Given the description of an element on the screen output the (x, y) to click on. 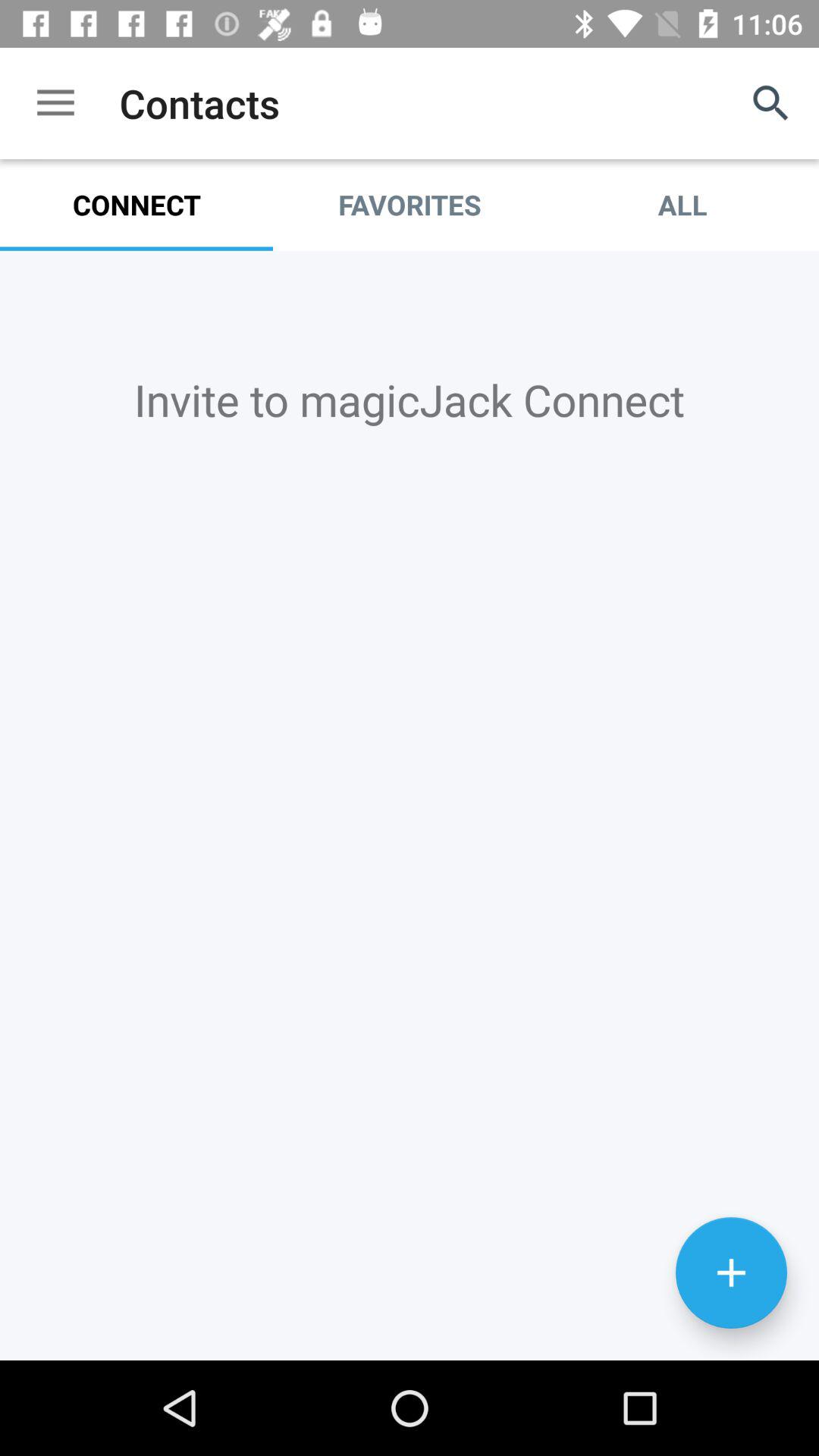
add new connection (731, 1272)
